Given the description of an element on the screen output the (x, y) to click on. 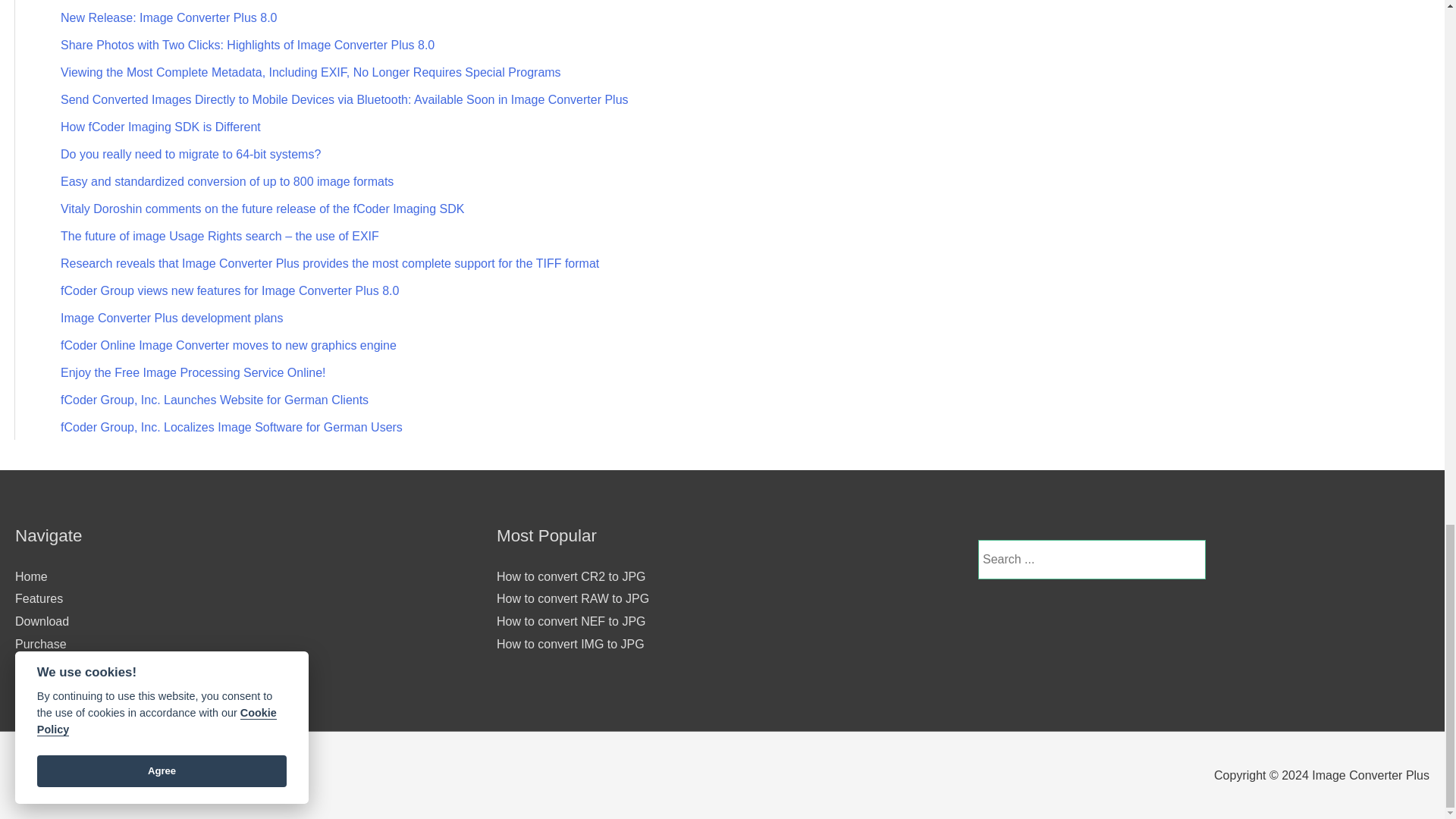
New Release: Image Converter Plus 8.0 (168, 17)
